Given the description of an element on the screen output the (x, y) to click on. 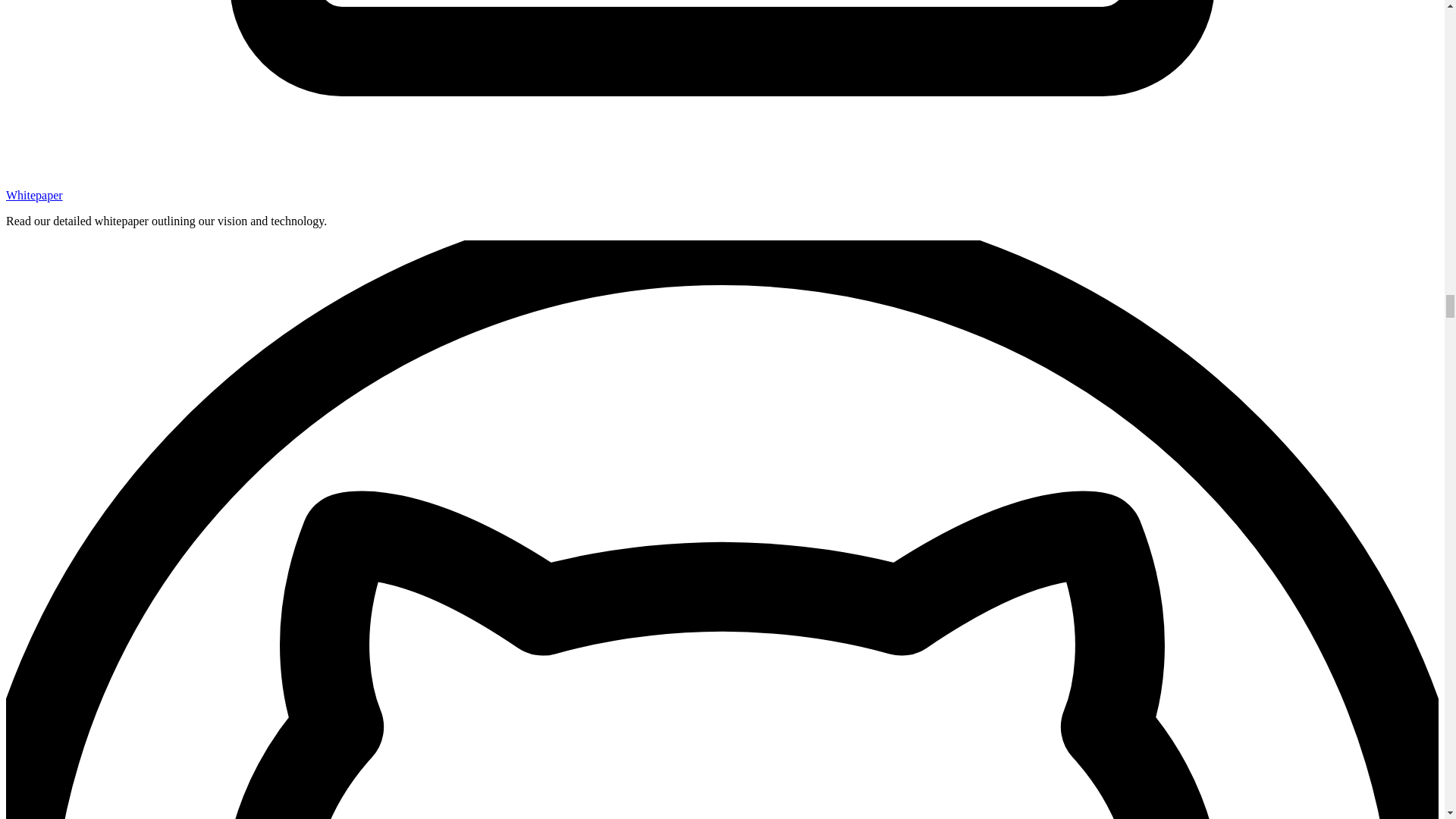
Whitepaper (33, 195)
Whitepaper (33, 195)
